Given the description of an element on the screen output the (x, y) to click on. 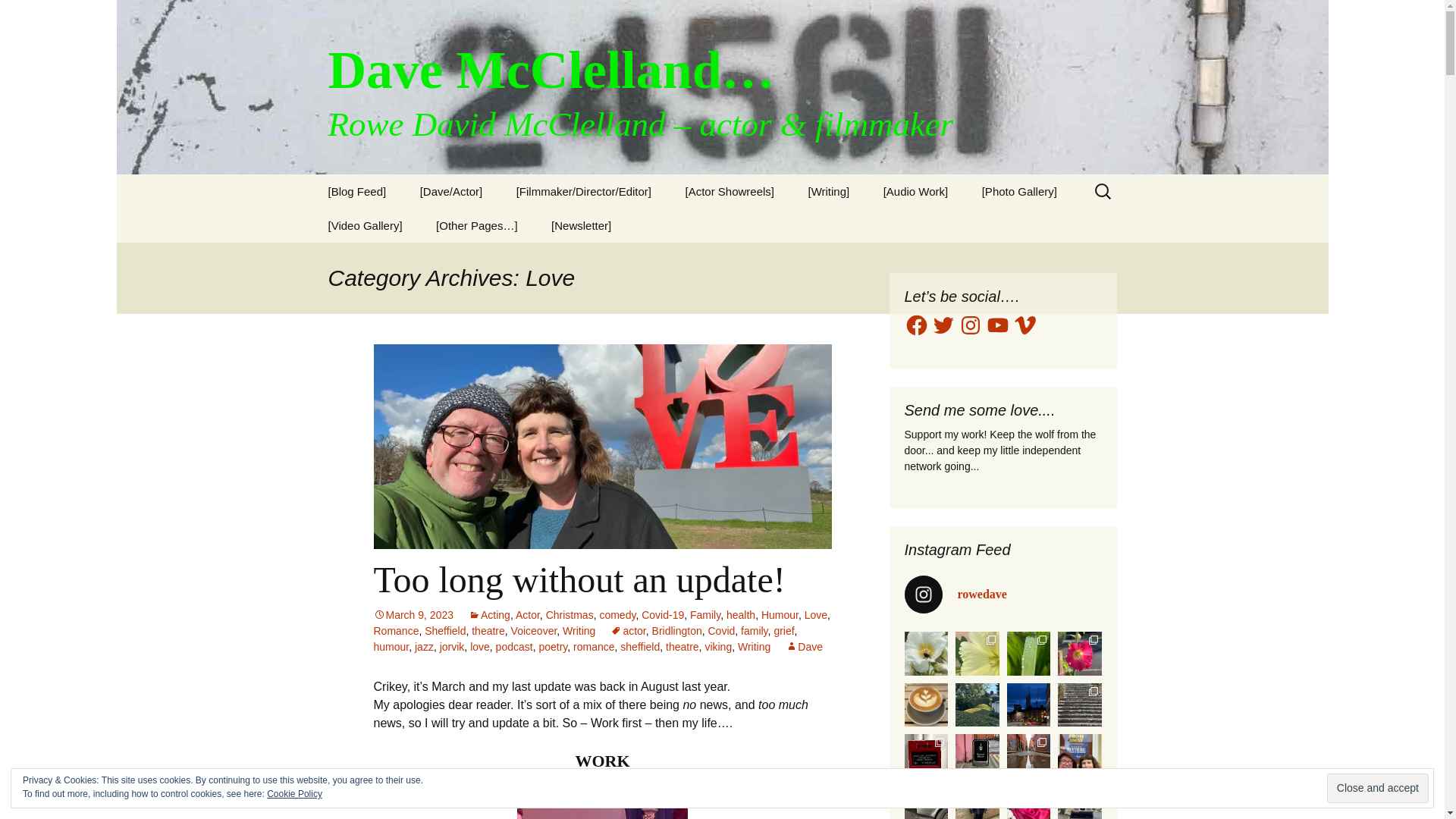
Actor (527, 614)
Close and accept (1377, 788)
Sheffield (445, 630)
Love (816, 614)
Romance (395, 630)
Acting (489, 614)
Covid (721, 630)
Search (18, 15)
March 9, 2023 (412, 614)
jazz (423, 646)
Covid-19 (663, 614)
podcast (514, 646)
View all posts by Dave (804, 646)
Too long without an update! (578, 579)
